Given the description of an element on the screen output the (x, y) to click on. 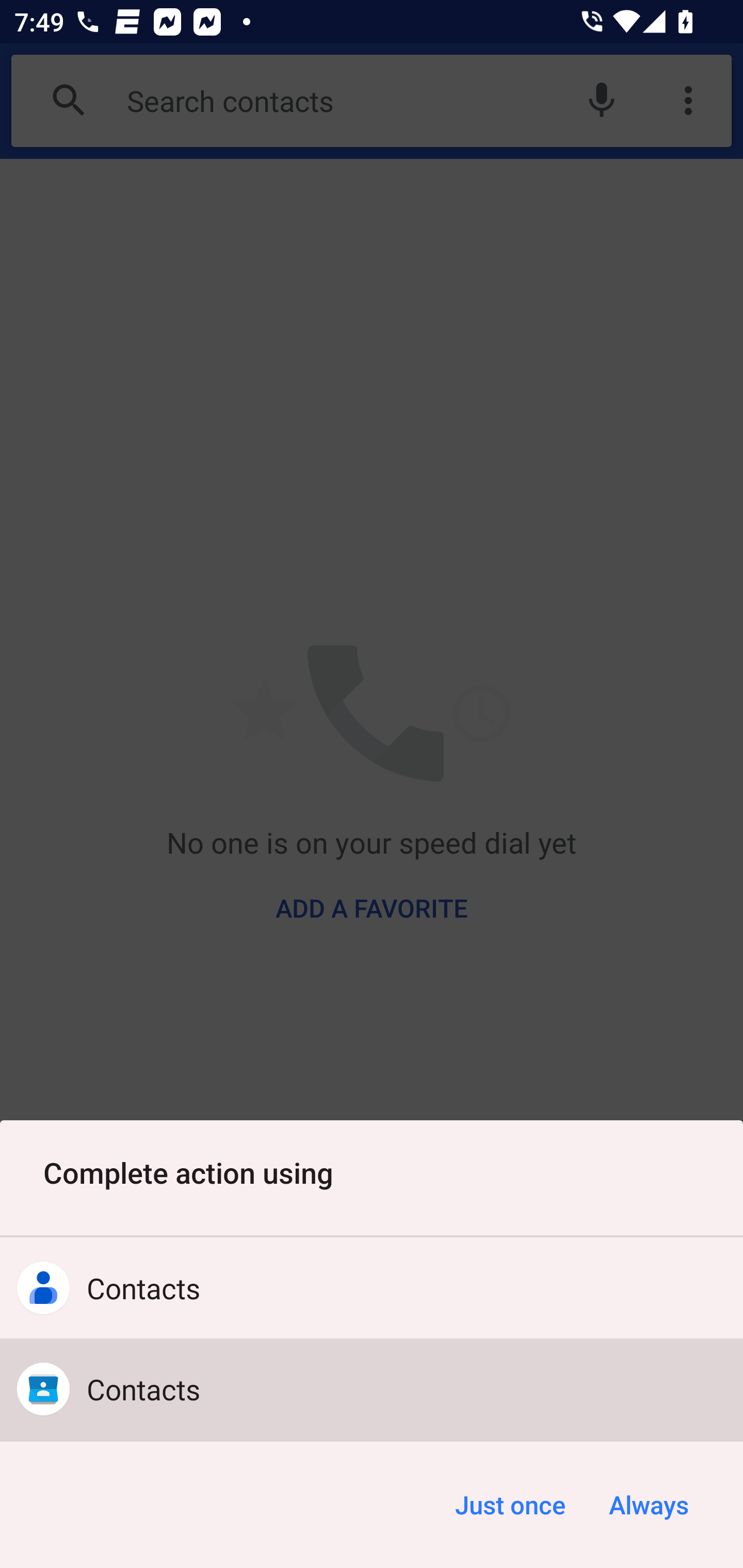
Contacts (371, 1288)
Contacts (371, 1389)
Just once (509, 1504)
Always (648, 1504)
